Given the description of an element on the screen output the (x, y) to click on. 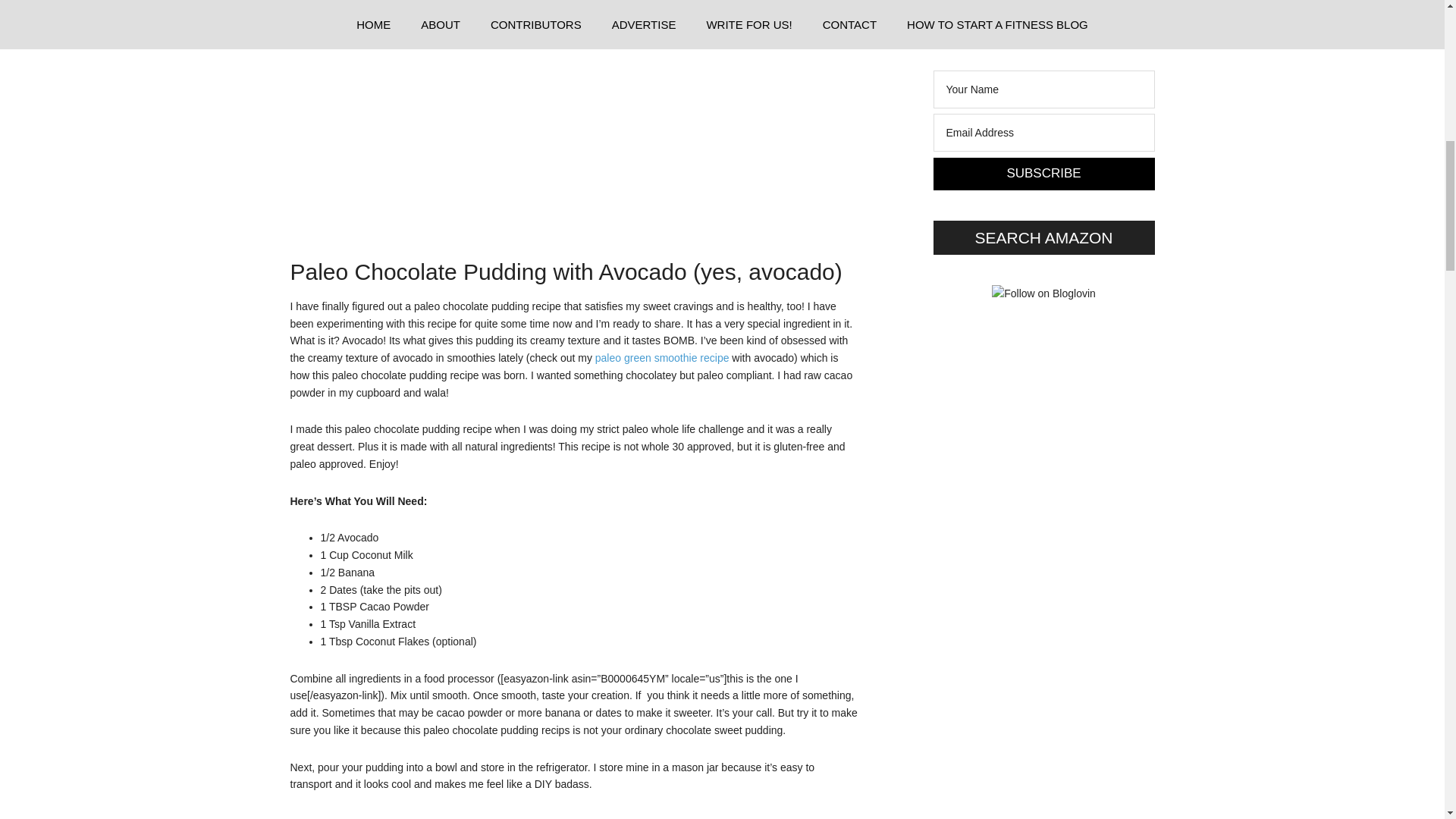
Subscribe (1043, 174)
paleo green smoothie recipe (662, 357)
Follow Fit and Awesome on Bloglovin (1043, 293)
Your Name (1043, 89)
My Paleo Green Smoothie Recipe (662, 357)
Chocolate Paleo Pudding Recipe (562, 110)
Email Address (1043, 132)
Paleo chocolate pudding recipe (421, 816)
